Given the description of an element on the screen output the (x, y) to click on. 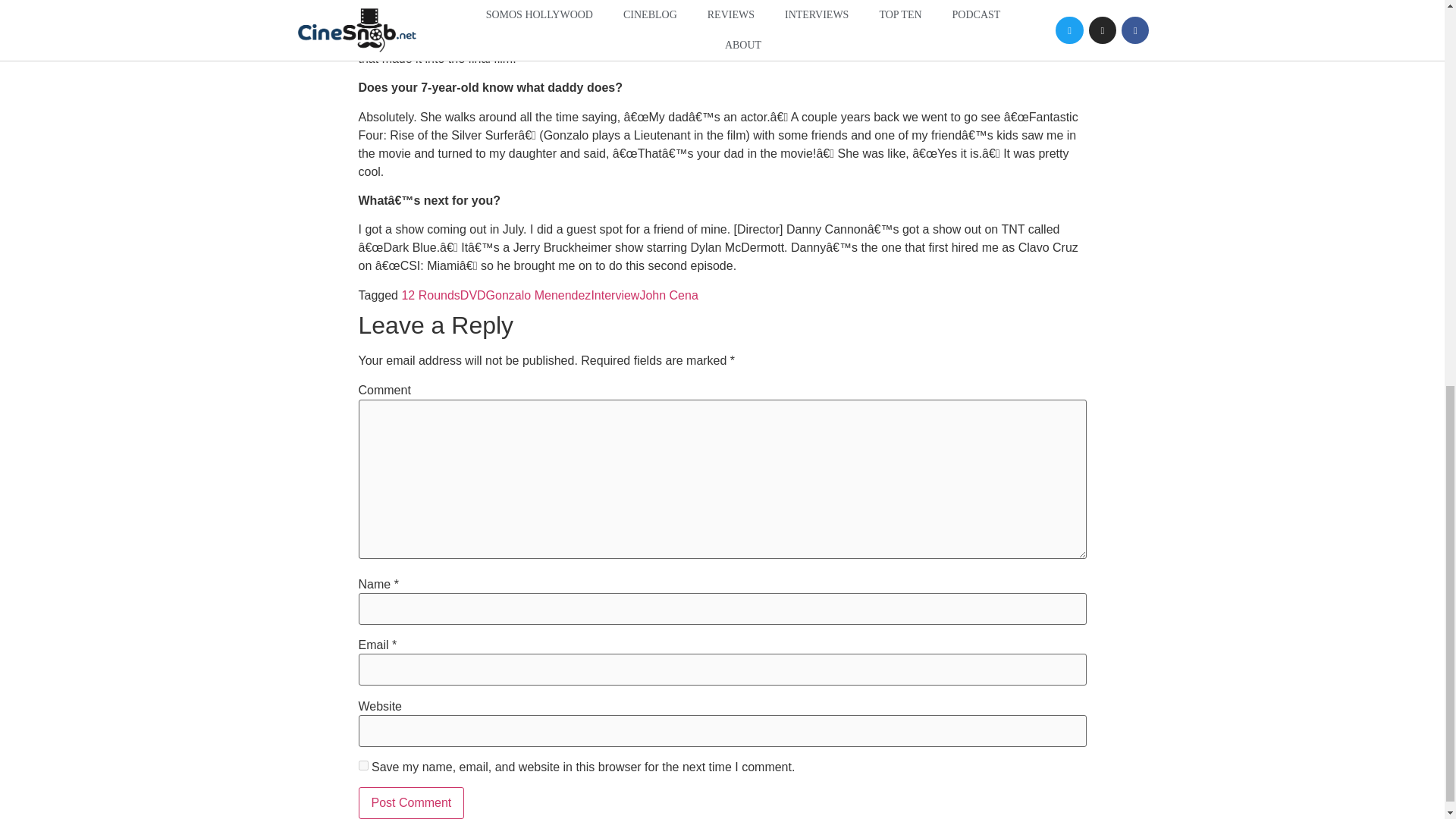
12 Rounds (430, 295)
DVD (473, 295)
Gonzalo Menendez (538, 295)
yes (363, 765)
